Given the description of an element on the screen output the (x, y) to click on. 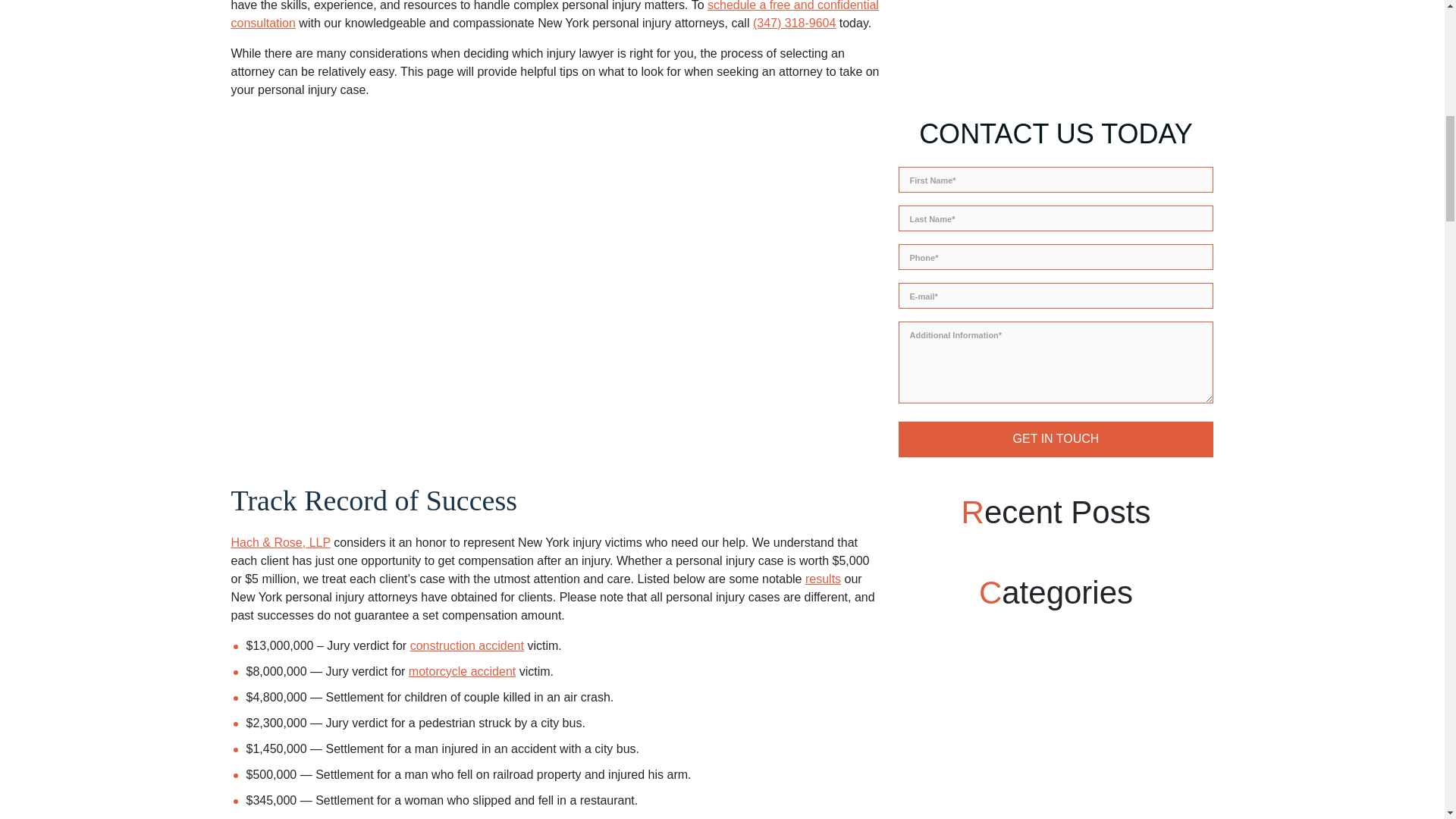
Construction Accidents (467, 645)
Motorcycle Accidents (462, 671)
Get in touch (1055, 119)
